Given the description of an element on the screen output the (x, y) to click on. 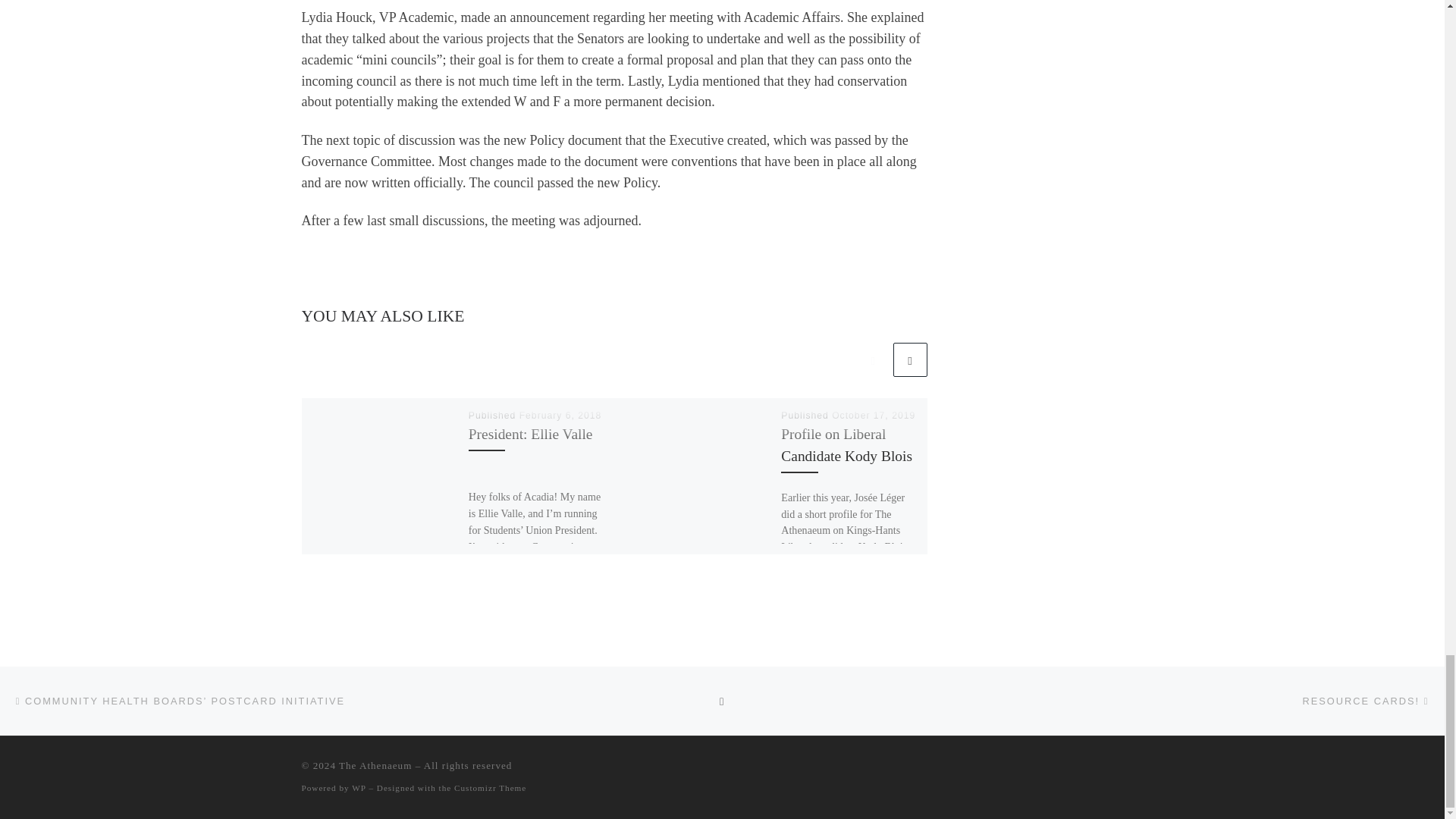
Previous related articles (872, 359)
Next related articles (910, 359)
The Athenaeum (375, 765)
Powered by WordPress (358, 787)
Customizr Theme (489, 787)
